Given the description of an element on the screen output the (x, y) to click on. 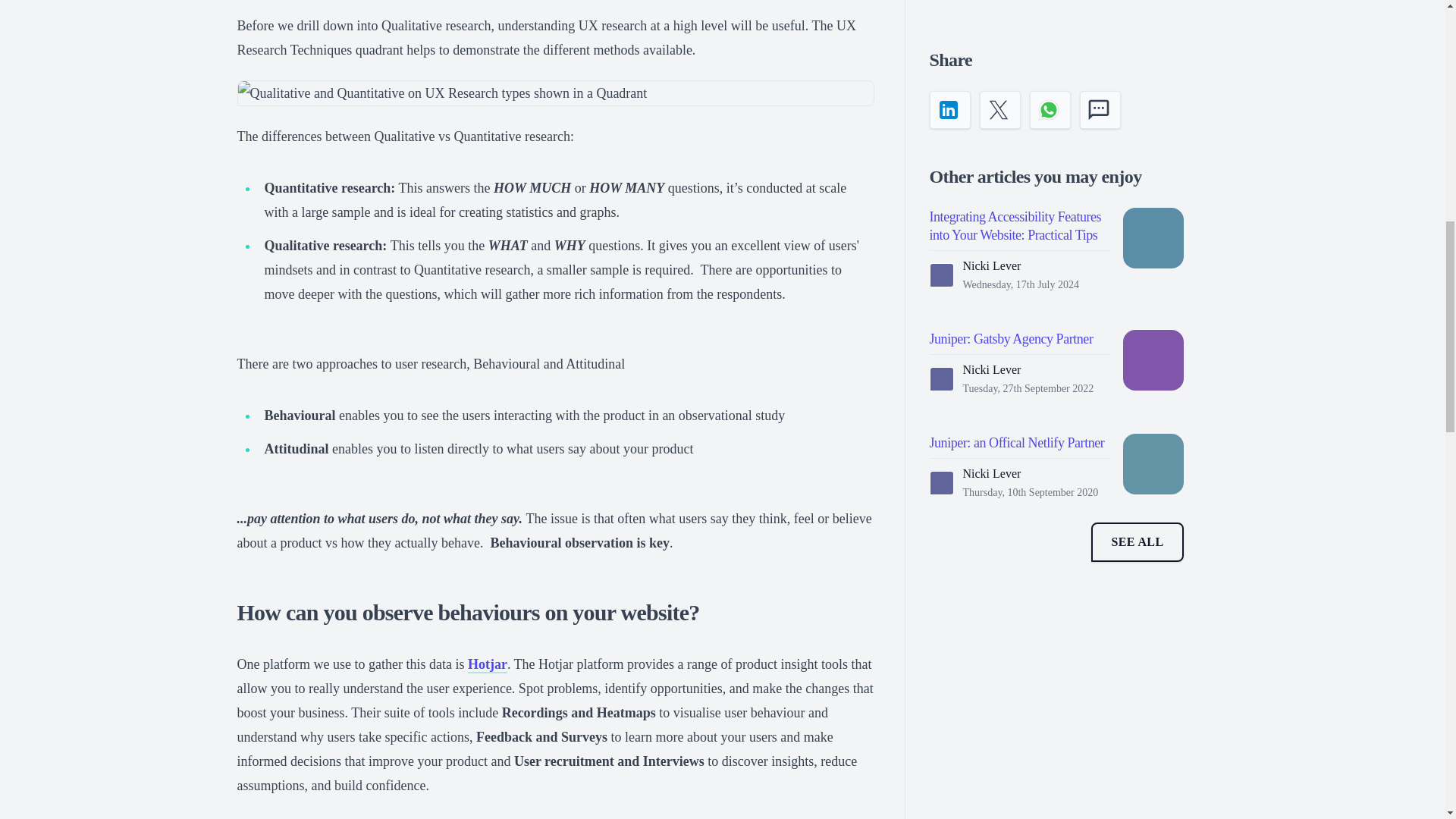
Hotjar (486, 664)
SEE ALL (1136, 197)
